Given the description of an element on the screen output the (x, y) to click on. 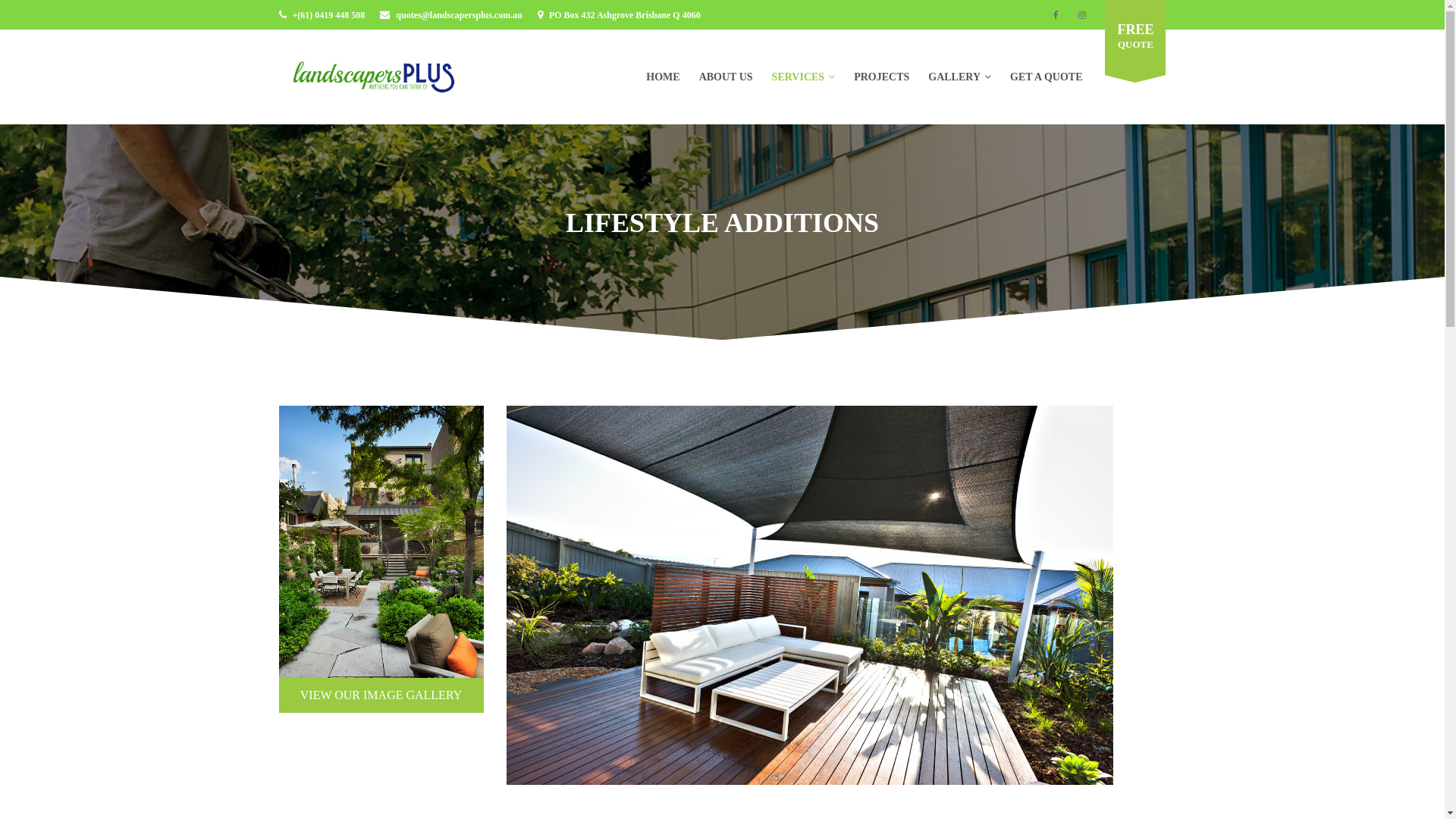
Landscapers Plus - Your Brisbane Landscape Experts Element type: hover (373, 75)
+(61) 0419 448 508 Element type: text (328, 14)
GET A QUOTE Element type: text (1036, 77)
HOME Element type: text (653, 77)
SERVICES Element type: text (789, 77)
PROJECTS Element type: text (871, 77)
ABOUT US Element type: text (716, 77)
GALLERY Element type: text (944, 77)
quotes@landscapersplus.com.au Element type: text (458, 14)
